Given the description of an element on the screen output the (x, y) to click on. 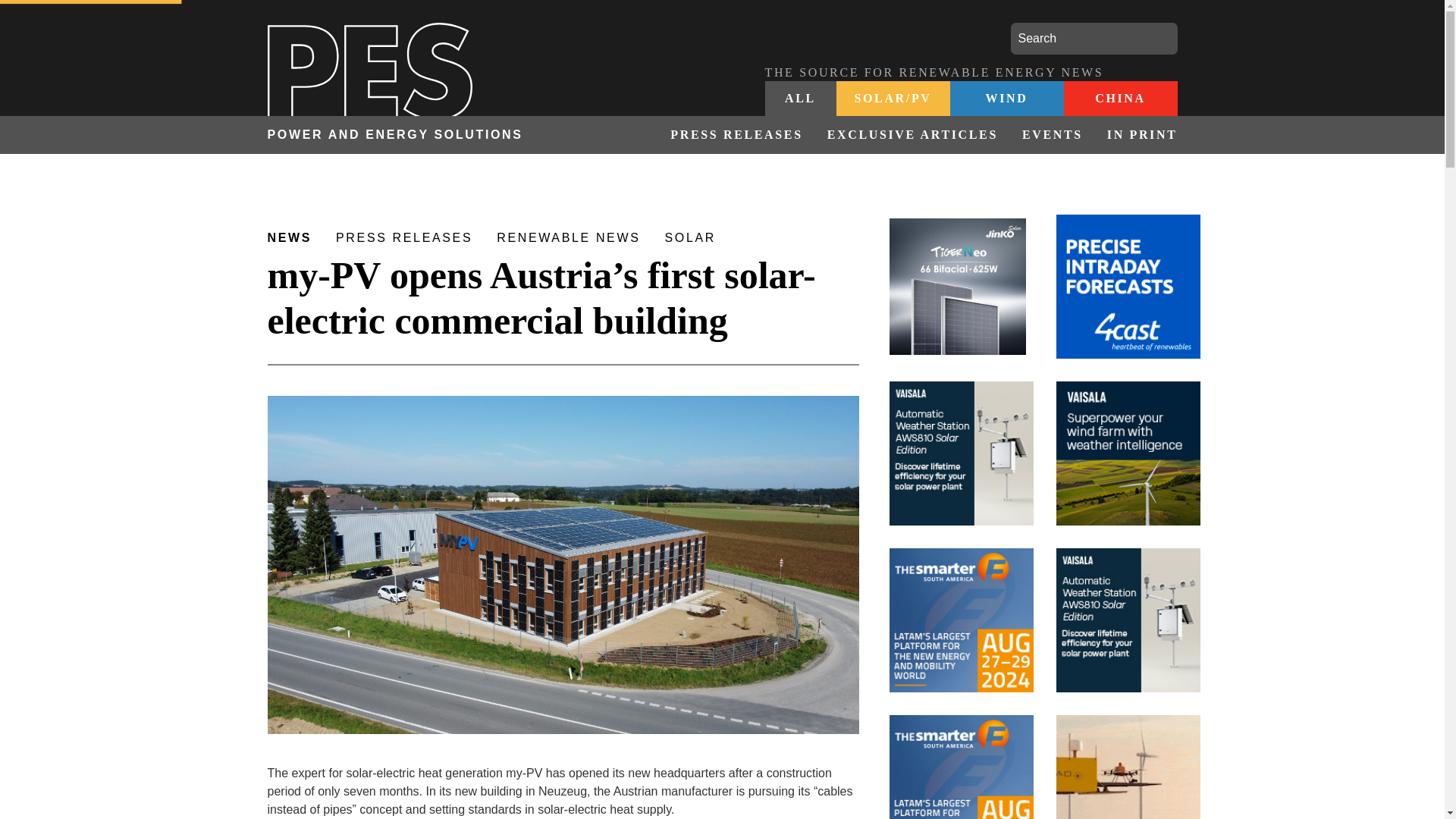
CHINA (1119, 98)
EXCLUSIVE ARTICLES (912, 134)
PRESS RELEASES (735, 134)
ALL (799, 98)
WIND (1005, 98)
Search for: (1093, 38)
IN PRINT (1135, 134)
EVENTS (1052, 134)
